Given the description of an element on the screen output the (x, y) to click on. 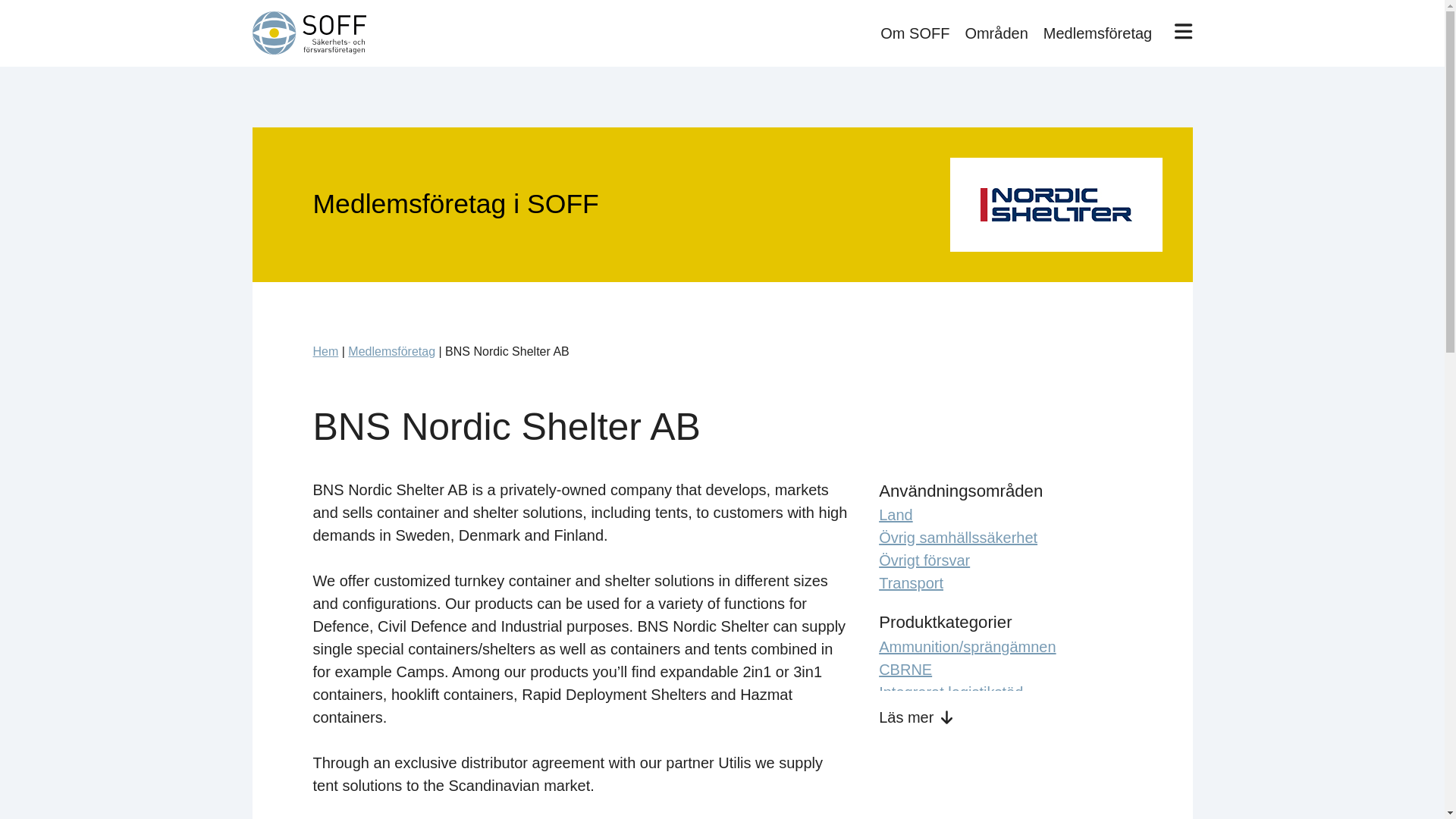
Om SOFF (914, 33)
Land (895, 514)
CBRNE (905, 669)
Hem (325, 350)
Transport (911, 582)
